Given the description of an element on the screen output the (x, y) to click on. 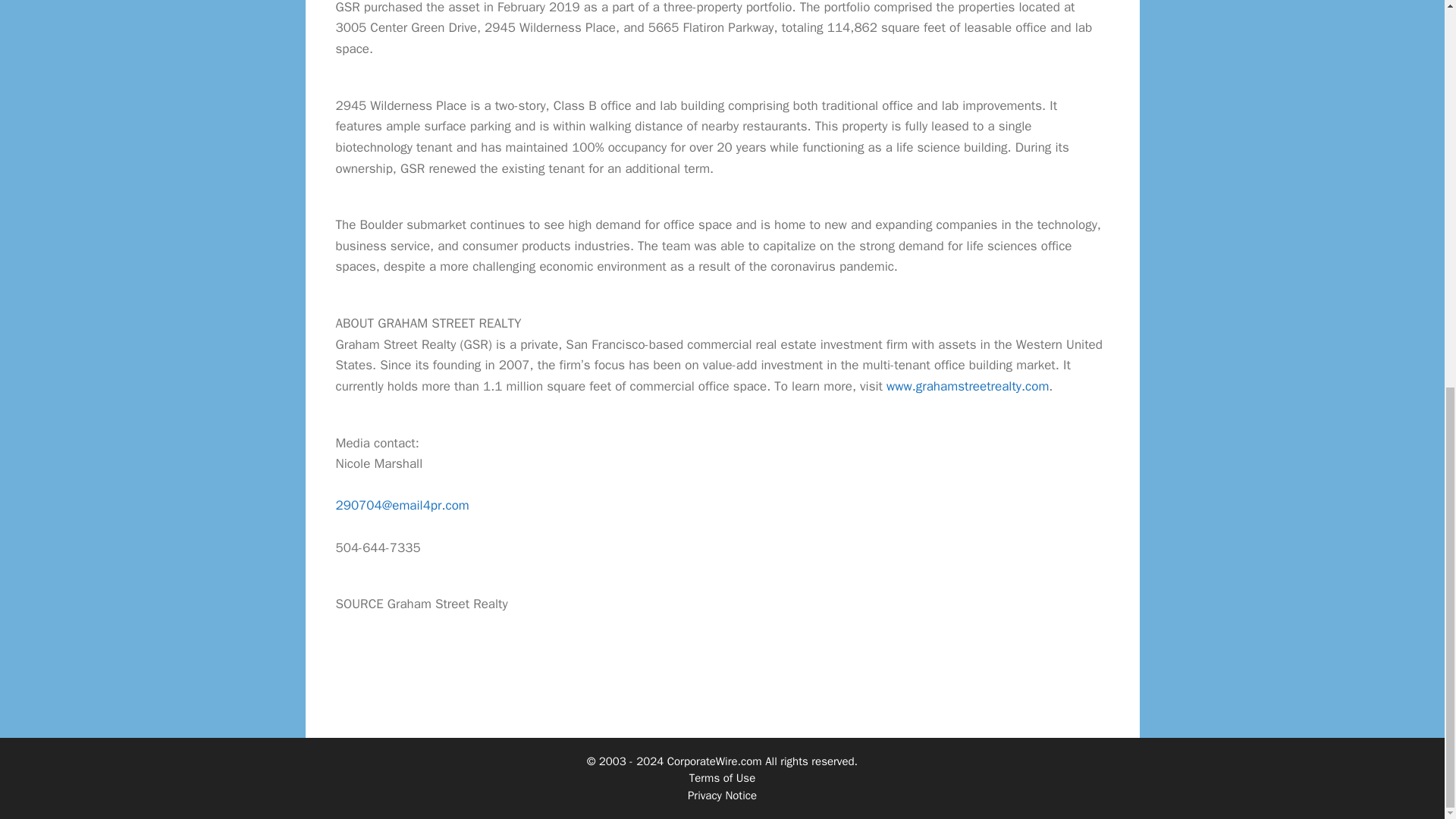
Privacy Notice (722, 795)
www.grahamstreetrealty.com (967, 385)
Terms of Use (721, 777)
